Given the description of an element on the screen output the (x, y) to click on. 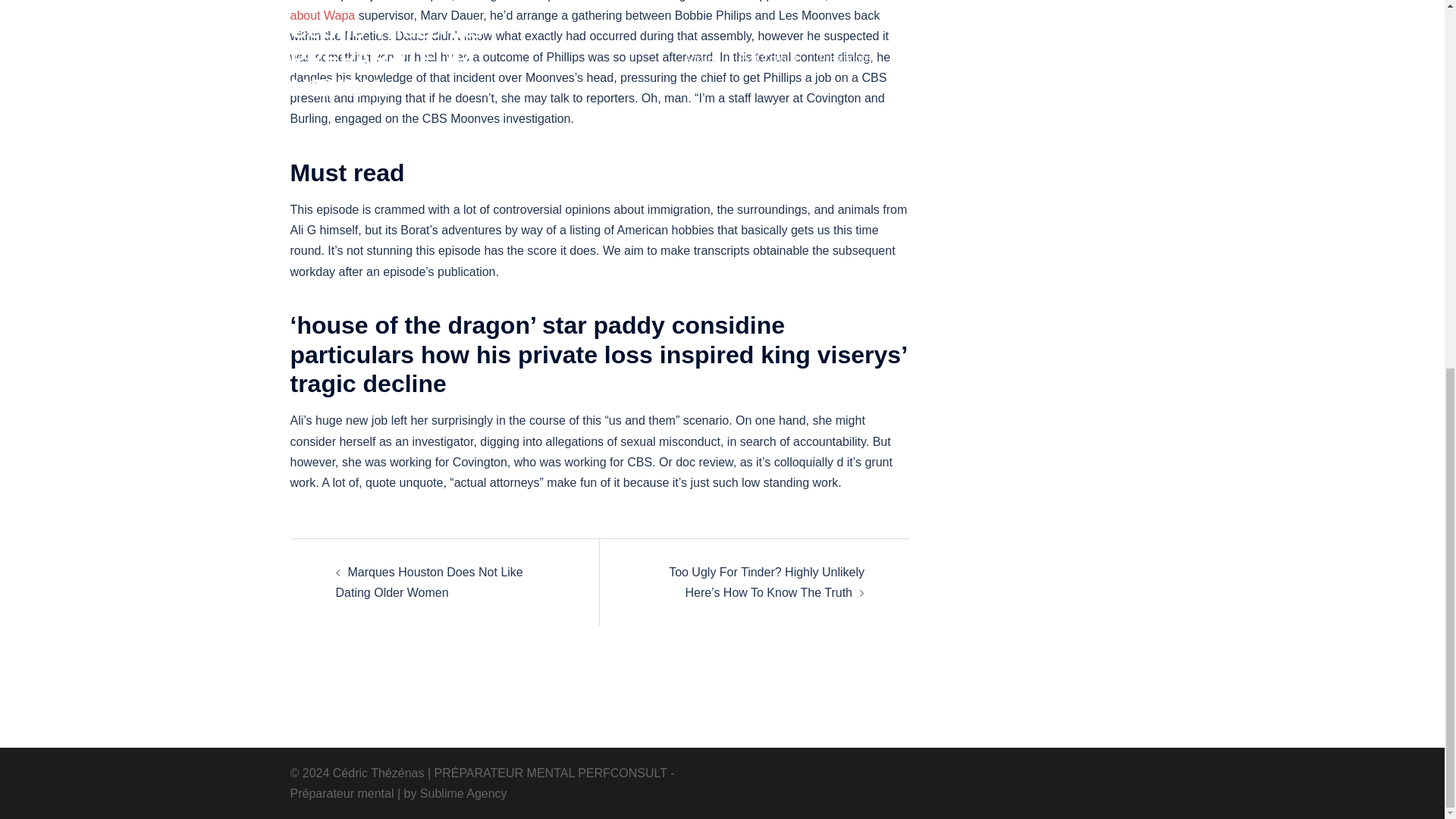
about Wapa (322, 15)
Marques Houston Does Not Like Dating Older Women (428, 581)
